Given the description of an element on the screen output the (x, y) to click on. 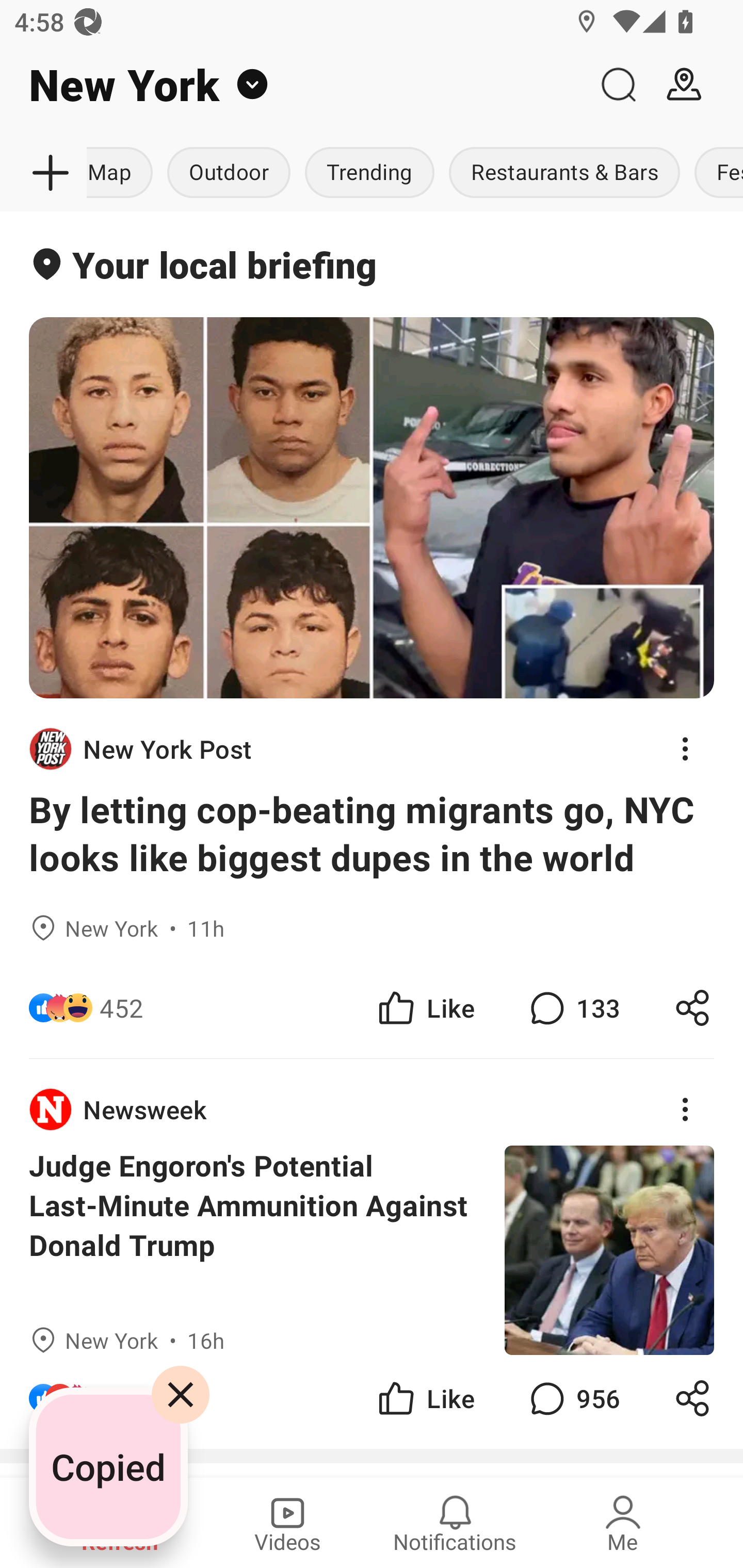
New York (292, 84)
Crime Map (122, 172)
Outdoor (228, 172)
Trending (369, 172)
Restaurants & Bars (564, 172)
452 (121, 1007)
Like (425, 1007)
133 (572, 1007)
Like (425, 1397)
956 (572, 1397)
Videos (287, 1522)
Notifications (455, 1522)
Me (622, 1522)
